Given the description of an element on the screen output the (x, y) to click on. 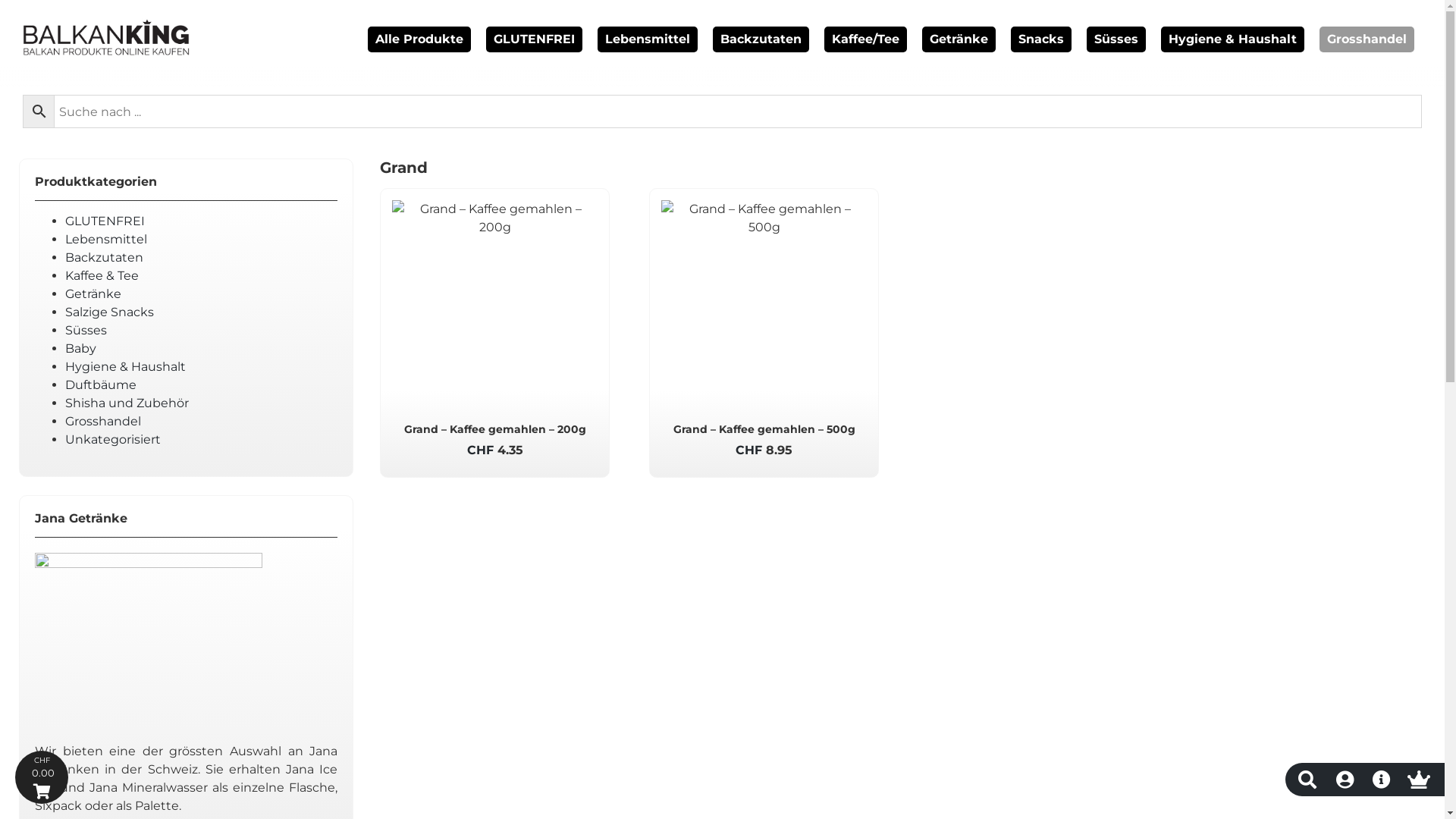
Backzutaten Element type: text (760, 39)
Lebensmittel Element type: text (106, 239)
Hygiene & Haushalt Element type: text (1232, 39)
Salzige Snacks Element type: text (109, 311)
Unkategorisiert Element type: text (112, 439)
Lebensmittel Element type: text (647, 39)
CHF
 0.00 Element type: text (41, 776)
Alle Produkte Element type: text (418, 39)
Snacks Element type: text (1040, 39)
Backzutaten Element type: text (104, 257)
Kaffee & Tee Element type: text (101, 275)
Grosshandel Element type: text (103, 421)
GLUTENFREI Element type: text (104, 220)
Hygiene & Haushalt Element type: text (125, 366)
Kaffee/Tee Element type: text (865, 39)
Grosshandel Element type: text (1366, 39)
GLUTENFREI Element type: text (534, 39)
Baby Element type: text (80, 348)
